Given the description of an element on the screen output the (x, y) to click on. 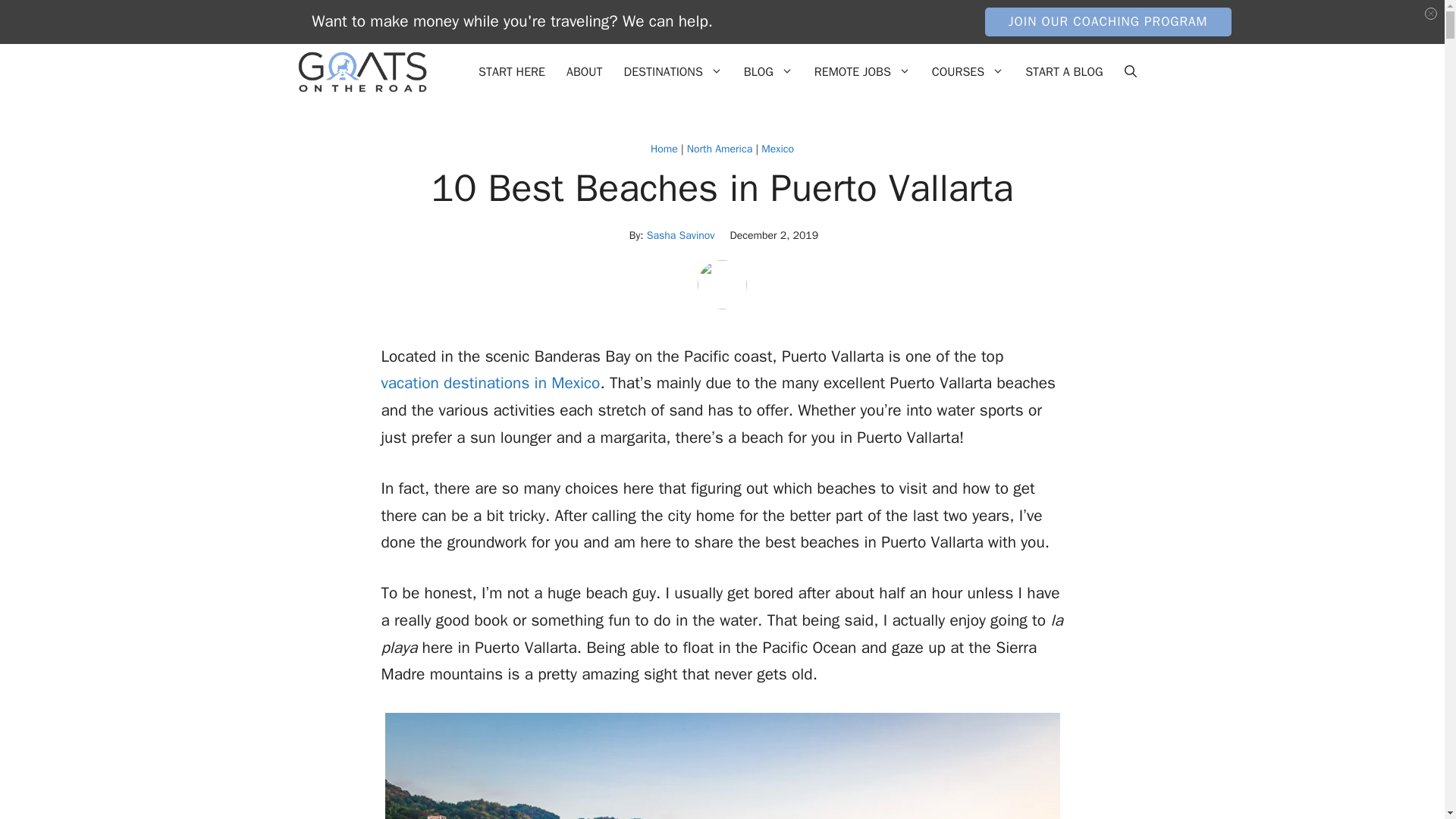
START HERE (511, 72)
ABOUT (584, 72)
DESTINATIONS (672, 72)
